Given the description of an element on the screen output the (x, y) to click on. 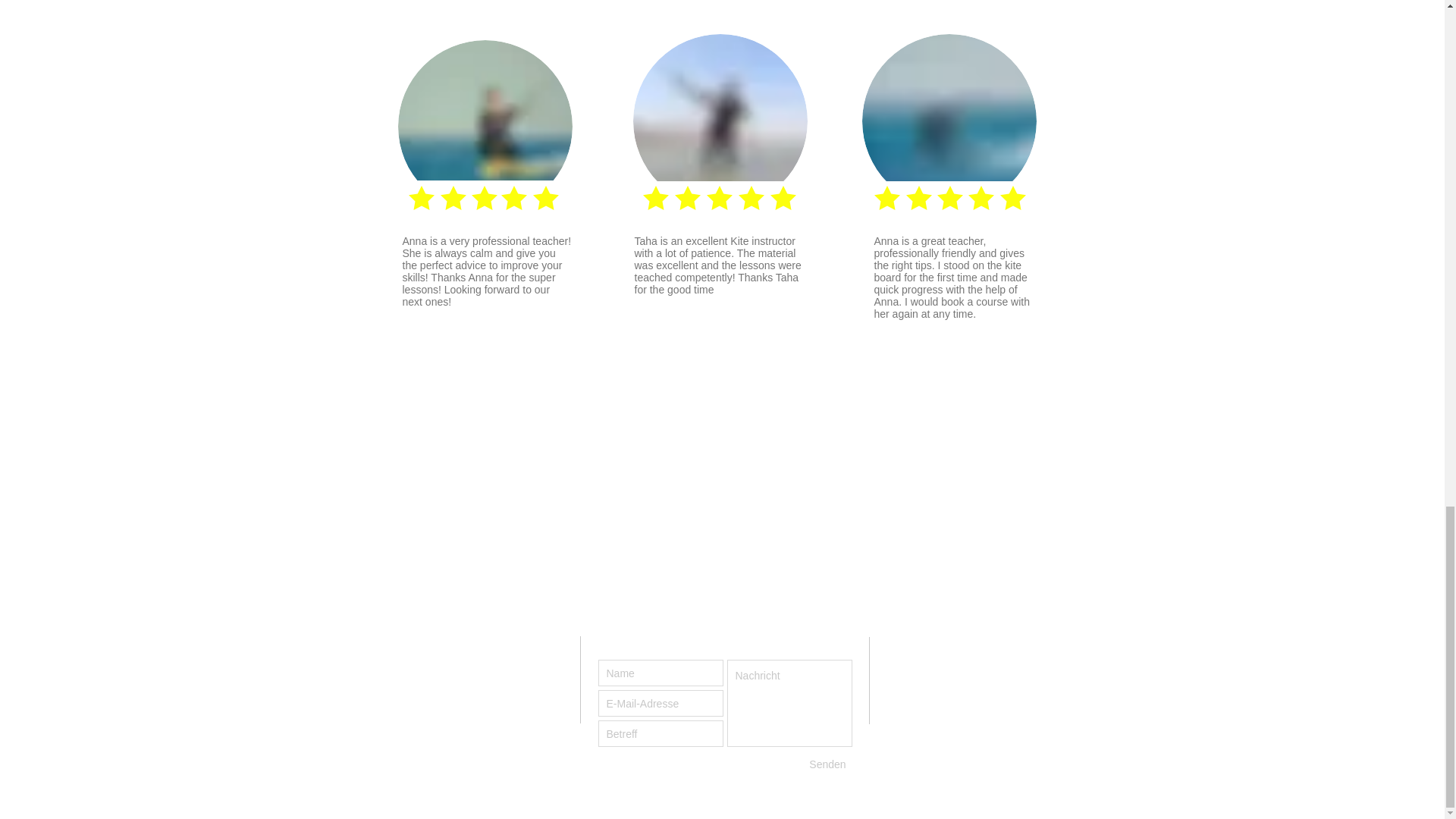
Impressum (422, 720)
Senden (826, 763)
Datenschutz (483, 720)
AGB (528, 720)
Wix.com (522, 751)
